Given the description of an element on the screen output the (x, y) to click on. 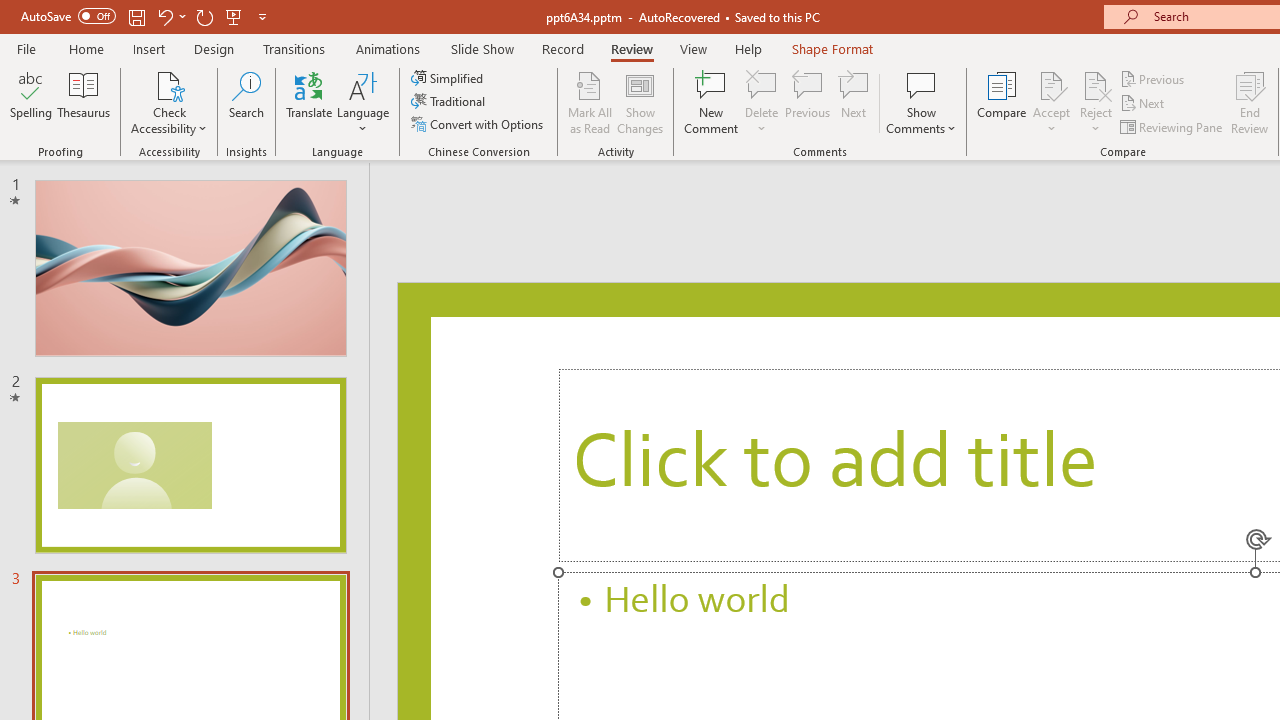
Accept (1051, 102)
Thesaurus... (83, 102)
Simplified (449, 78)
Mark All as Read (589, 102)
Accept Change (1051, 84)
Previous (1153, 78)
